Given the description of an element on the screen output the (x, y) to click on. 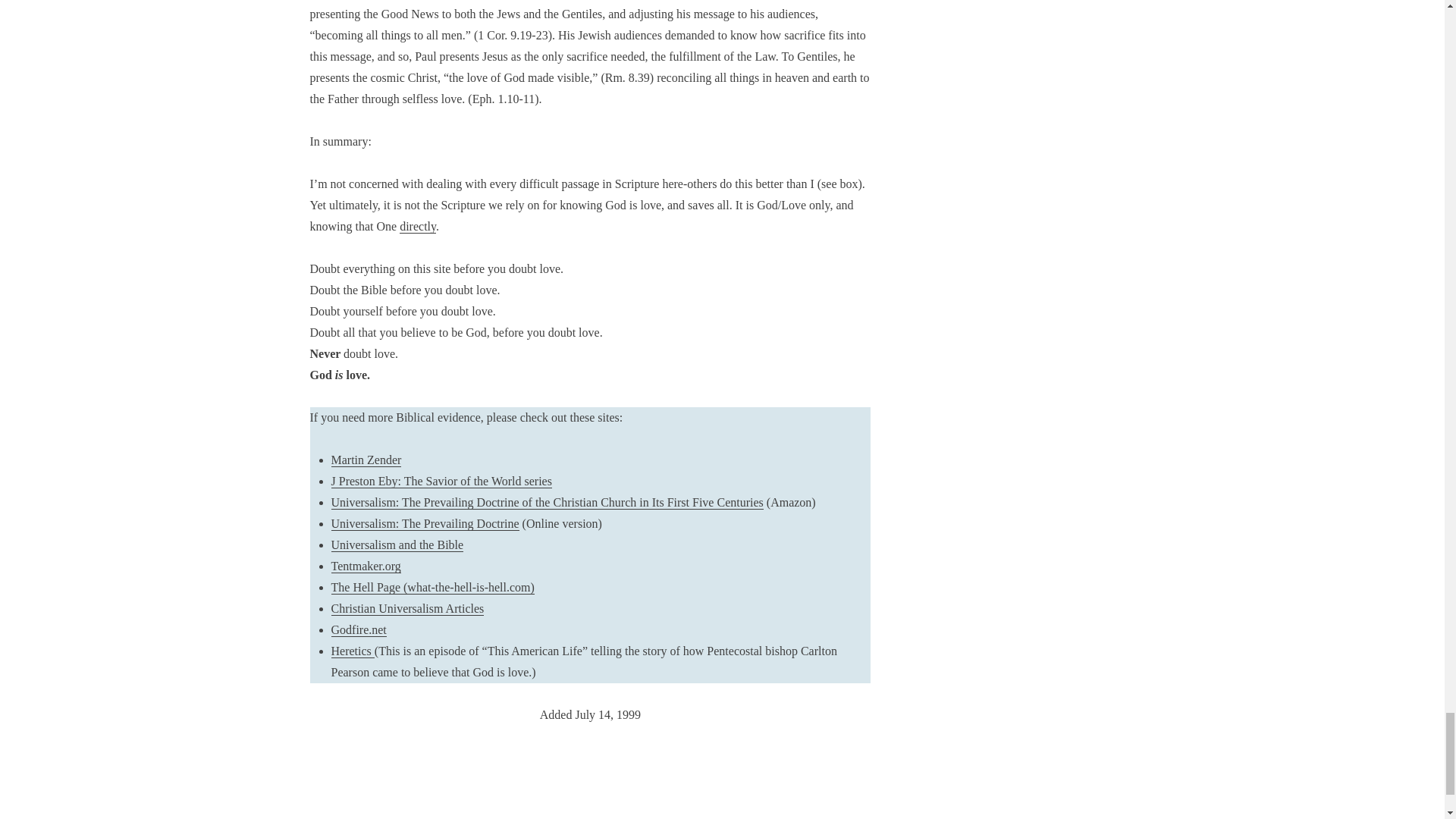
Godfire.net (357, 630)
Martin Zender (365, 459)
Christian Universalism Articles (406, 608)
directly (416, 226)
Heretics (352, 651)
J Preston Eby: The Savior of the World series (440, 481)
Universalism and the Bible (396, 545)
Universalism: The Prevailing Doctrine (424, 523)
Tentmaker.org (365, 566)
